Given the description of an element on the screen output the (x, y) to click on. 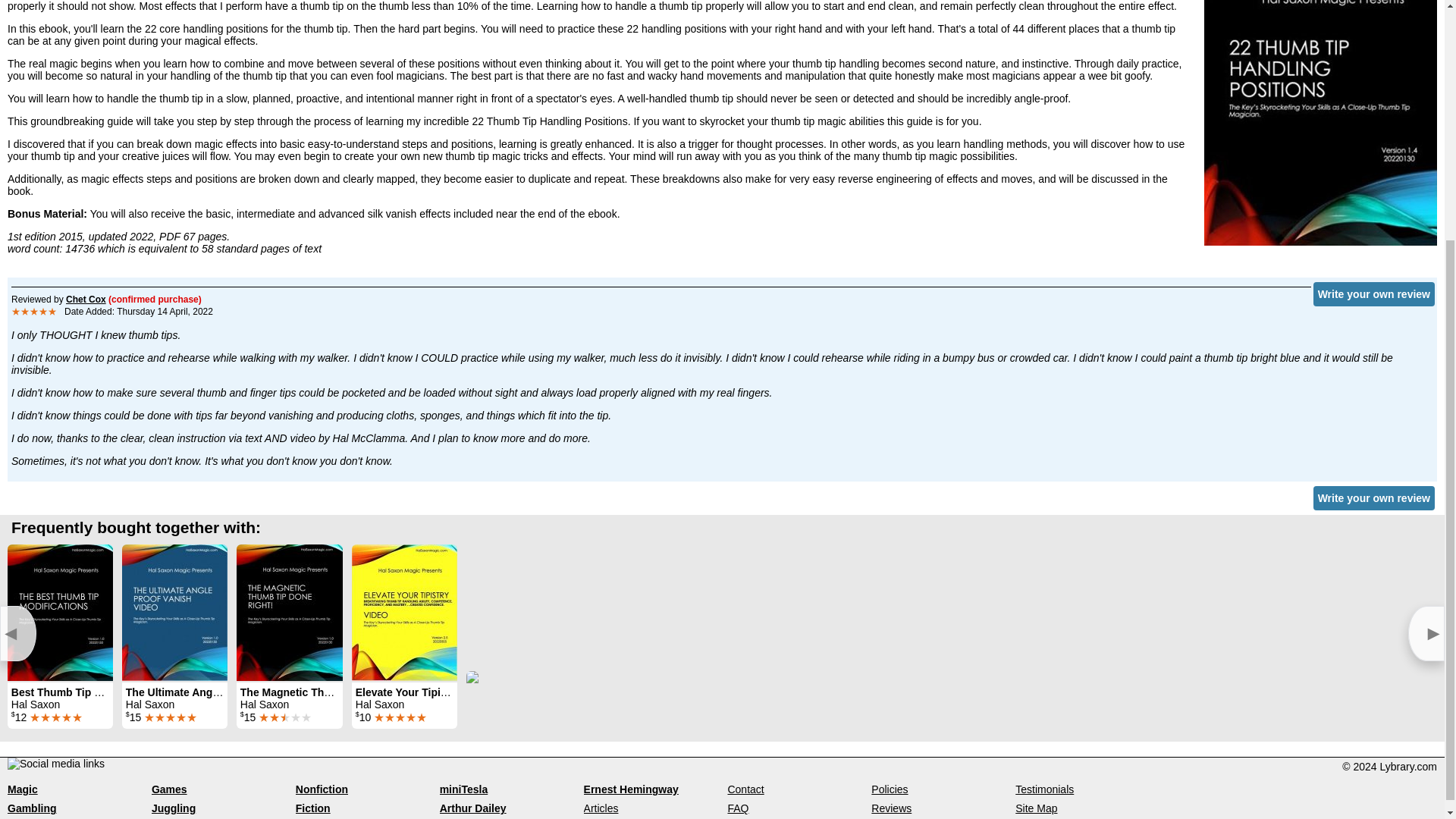
FAQ (737, 808)
Reviews (890, 808)
Arthur Dailey (472, 808)
Articles (600, 808)
Ernest Hemingway (630, 788)
Magic (22, 788)
miniTesla (463, 788)
Chet Cox (85, 299)
Contact (744, 788)
Nonfiction (321, 788)
